Given the description of an element on the screen output the (x, y) to click on. 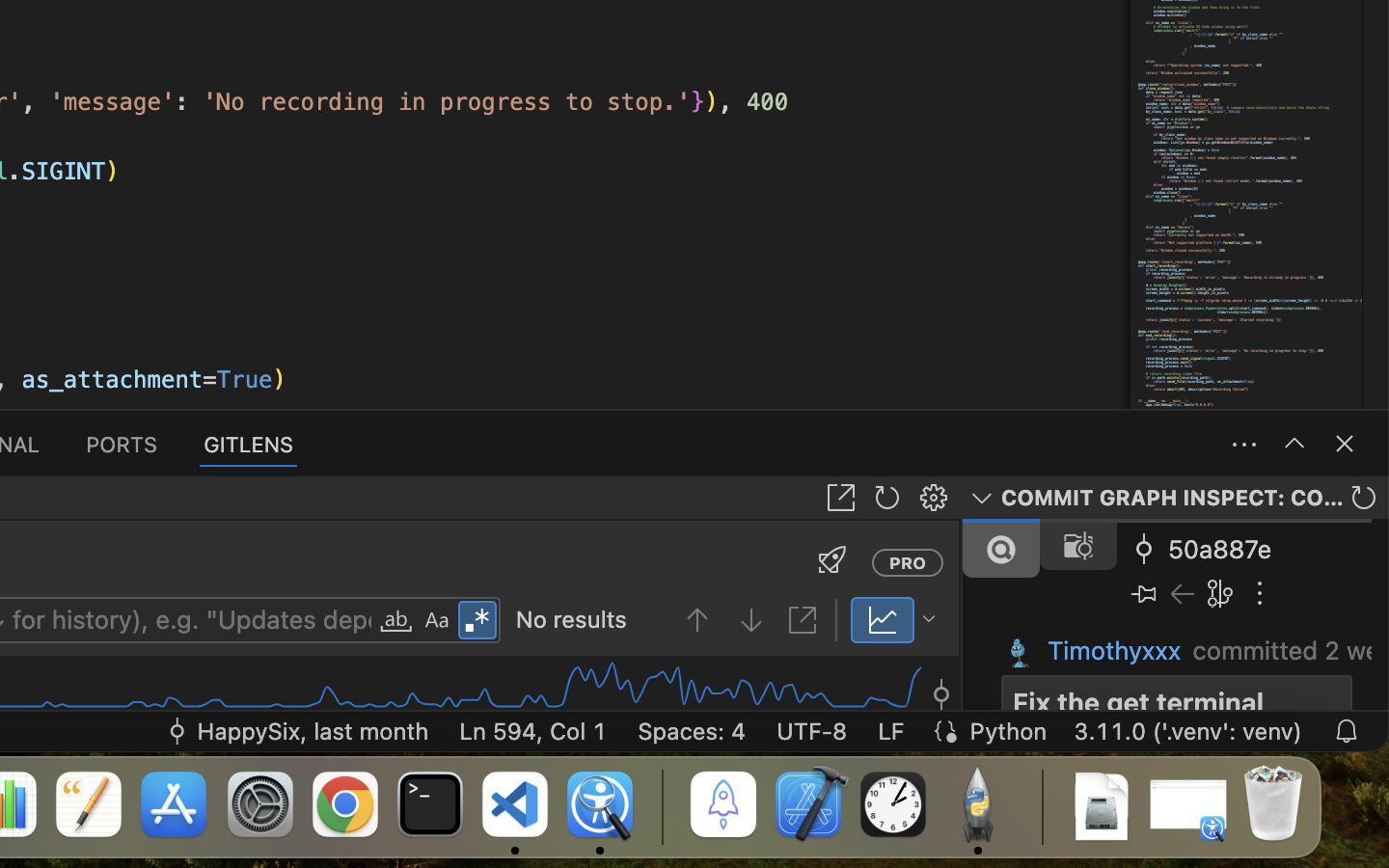
 Element type: AXButton (1344, 443)
1 GITLENS Element type: AXRadioButton (249, 443)
0 PORTS Element type: AXRadioButton (122, 443)
